Given the description of an element on the screen output the (x, y) to click on. 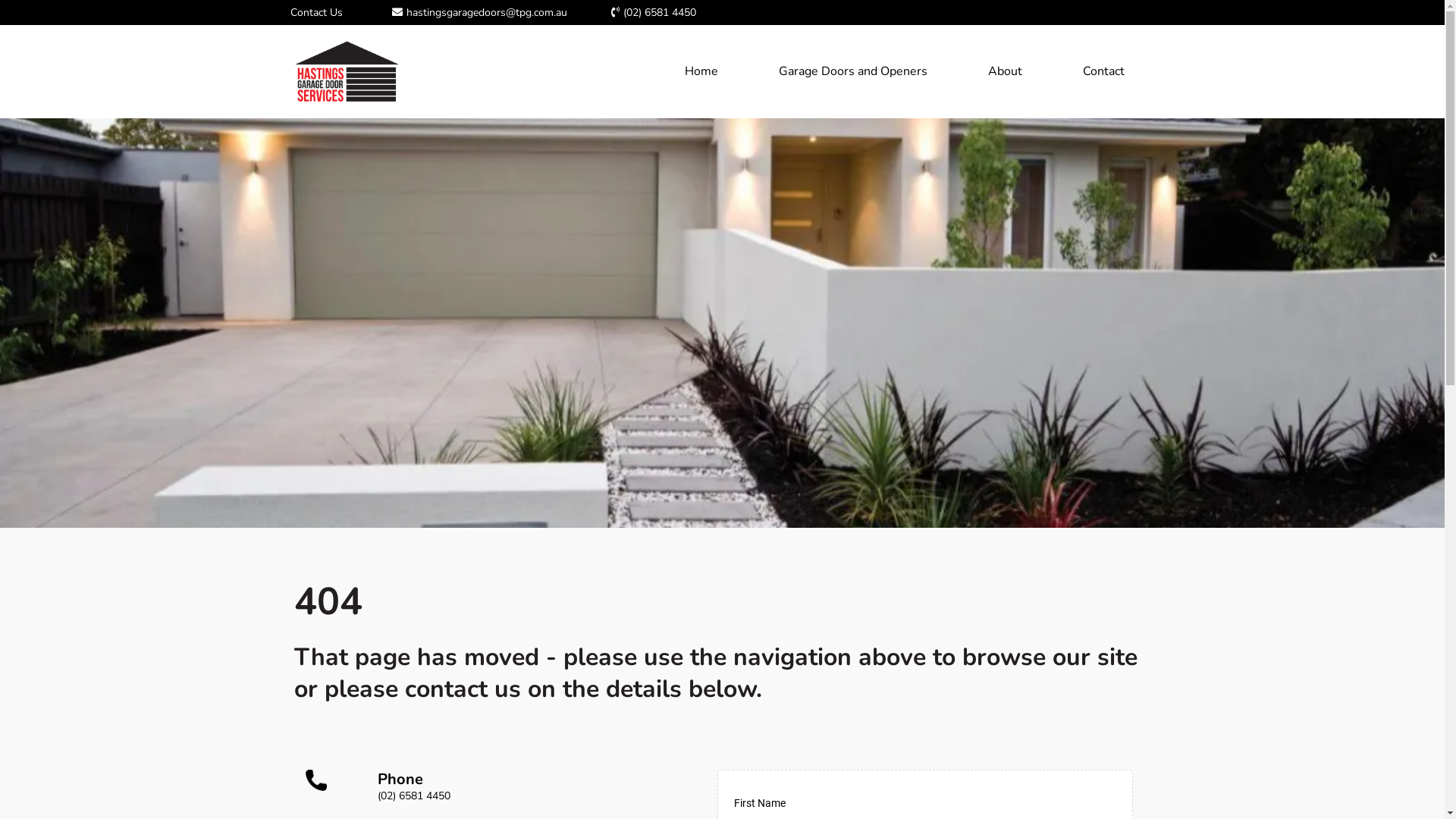
hastingsgaragedoors@tpg.com.au Element type: text (486, 12)
Contact Element type: text (1103, 71)
(02) 6581 4450 Element type: text (413, 795)
Garage Doors and Openers Element type: text (852, 71)
About Element type: text (1004, 71)
Home Element type: text (700, 71)
(02) 6581 4450 Element type: text (659, 12)
